Given the description of an element on the screen output the (x, y) to click on. 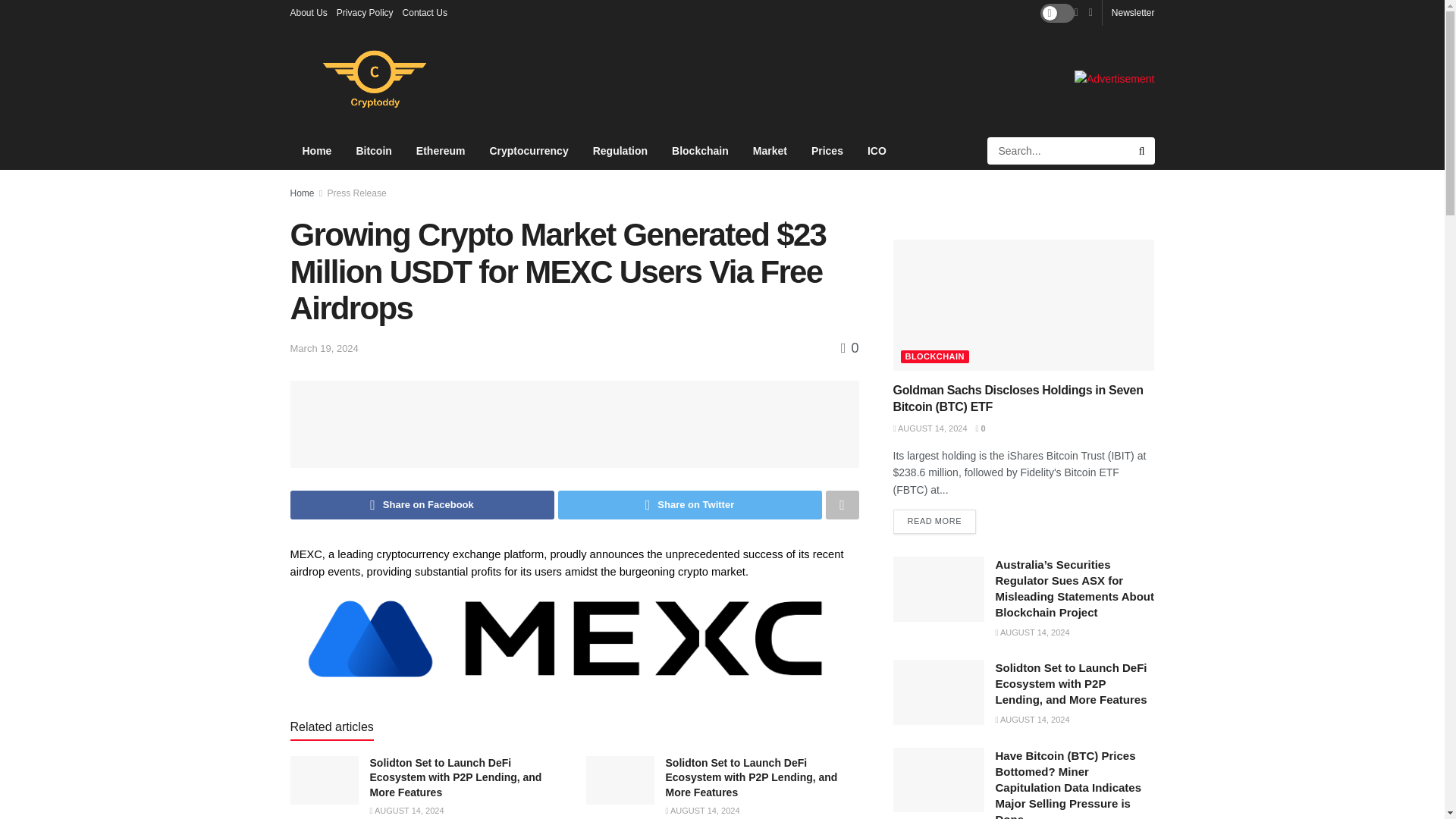
Market (770, 150)
Prices (827, 150)
ICO (877, 150)
About Us (307, 12)
Press Release (357, 193)
Ethereum (440, 150)
Home (316, 150)
Blockchain (700, 150)
Bitcoin (373, 150)
Cryptocurrency (528, 150)
